Given the description of an element on the screen output the (x, y) to click on. 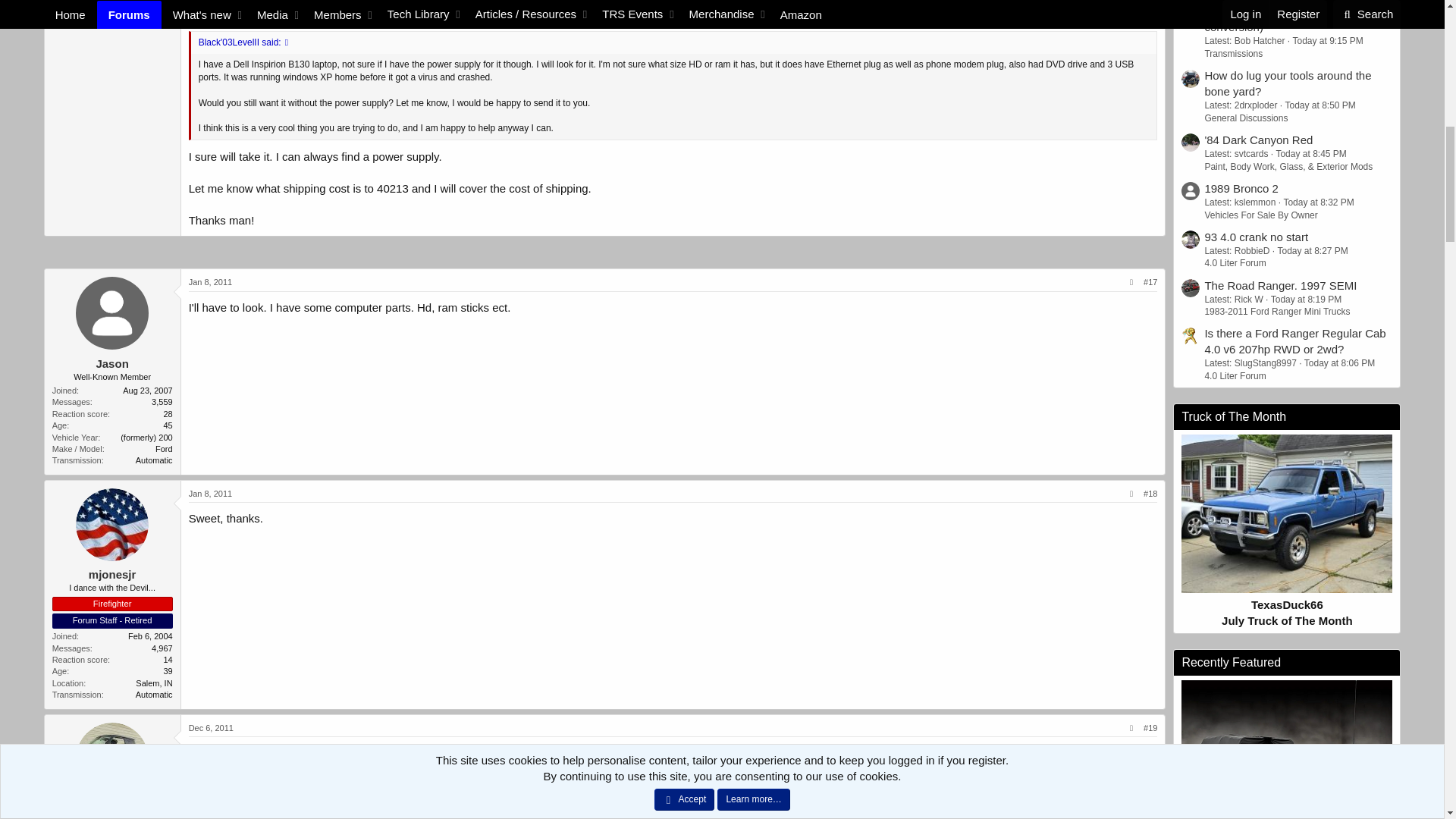
Jan 8, 2011 at 3:08 PM (210, 492)
Jan 8, 2011 at 1:44 PM (210, 281)
Dec 6, 2011 at 7:07 PM (210, 727)
